Given the description of an element on the screen output the (x, y) to click on. 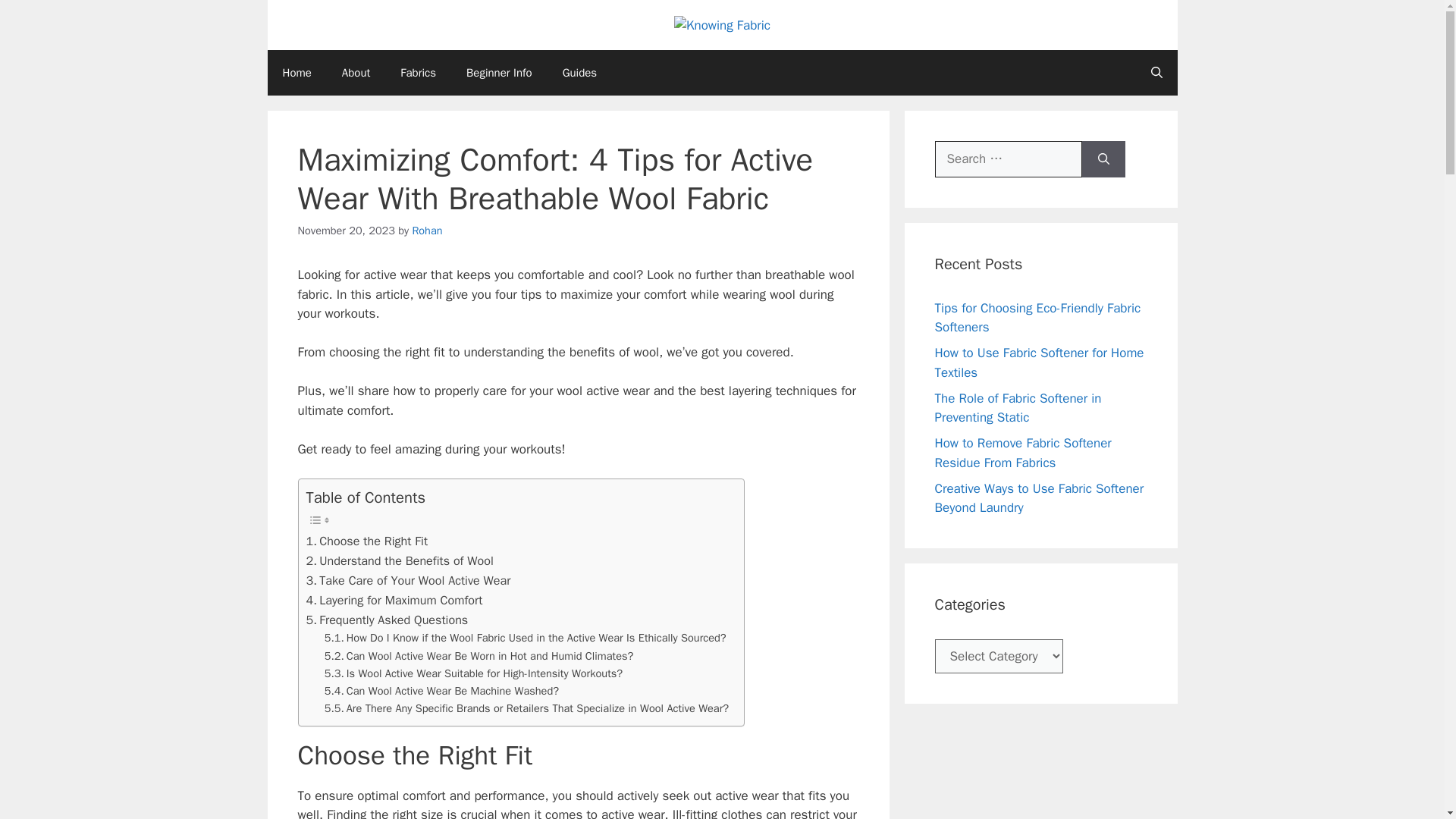
Frequently Asked Questions (386, 619)
Choose the Right Fit (366, 541)
Can Wool Active Wear Be Machine Washed? (441, 691)
Guides (579, 72)
Take Care of Your Wool Active Wear (408, 580)
Choose the Right Fit (366, 541)
About (355, 72)
Take Care of Your Wool Active Wear (408, 580)
Layering for Maximum Comfort (394, 600)
Fabrics (418, 72)
Layering for Maximum Comfort (394, 600)
Can Wool Active Wear Be Worn in Hot and Humid Climates? (478, 656)
Beginner Info (499, 72)
